Given the description of an element on the screen output the (x, y) to click on. 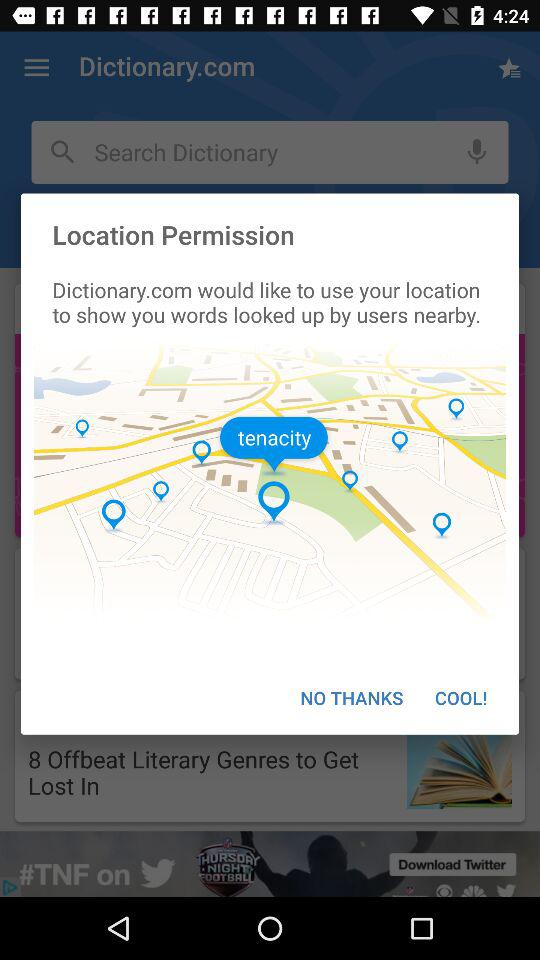
tap icon next to cool! icon (351, 697)
